Given the description of an element on the screen output the (x, y) to click on. 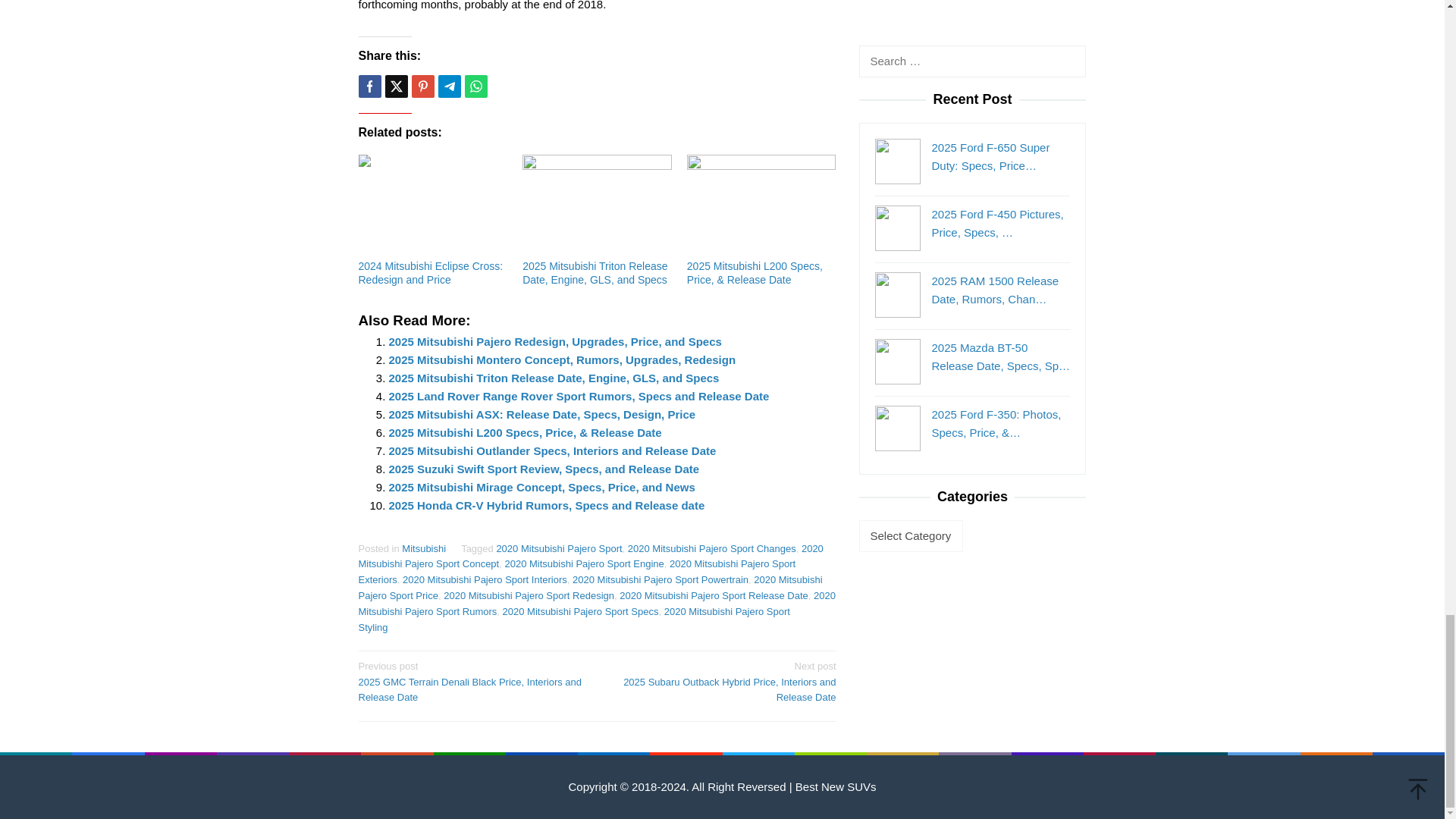
Share this (369, 86)
Pin this (421, 86)
Whatsapp (475, 86)
Telegram Share (449, 86)
Tweet this (396, 86)
